Given the description of an element on the screen output the (x, y) to click on. 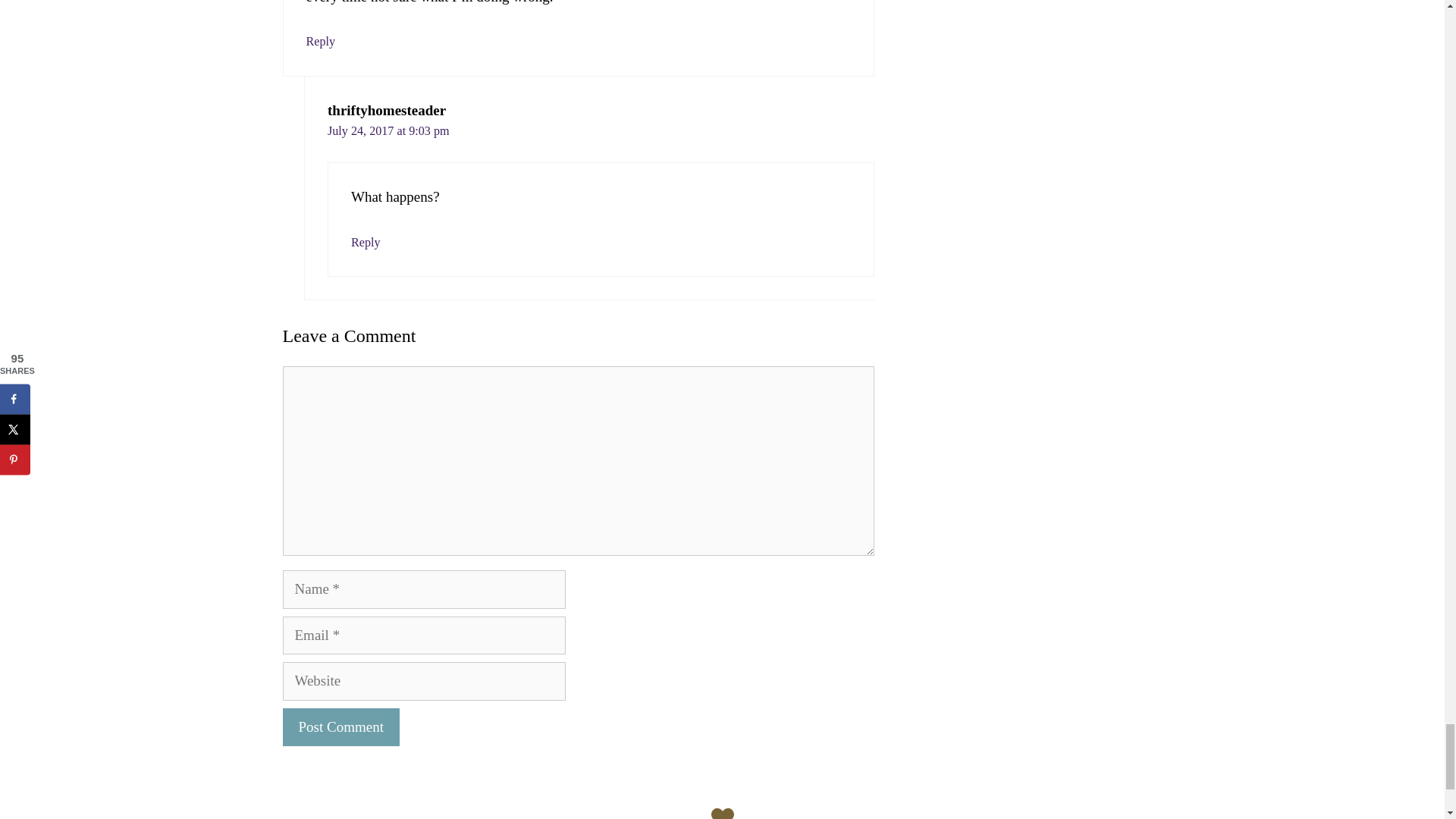
Post Comment (340, 727)
